Given the description of an element on the screen output the (x, y) to click on. 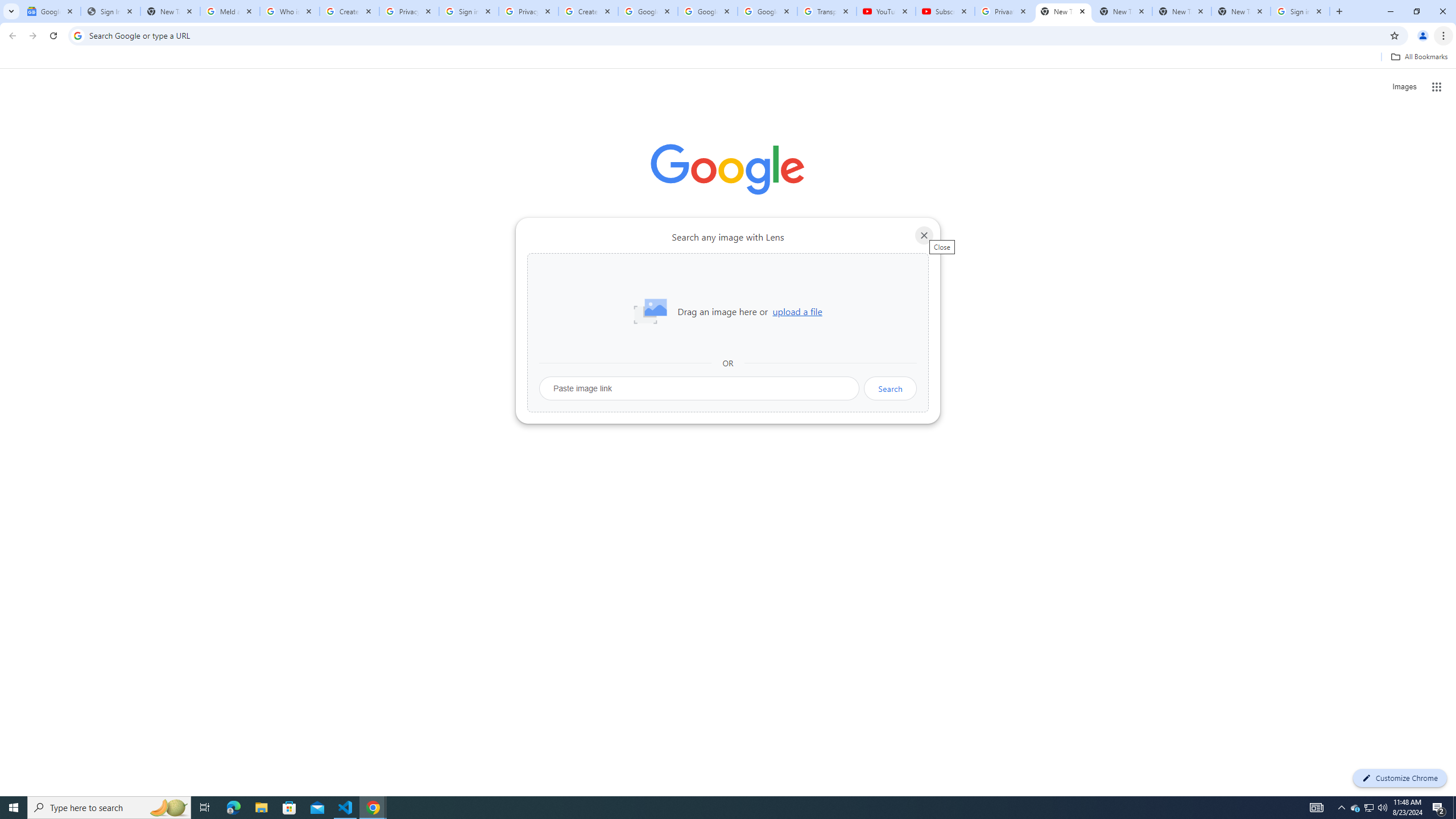
Create your Google Account (349, 11)
Google Account (767, 11)
More actions for Chrome Web Store shortcut (686, 265)
Sign in - Google Accounts (468, 11)
Sign in - Google Accounts (1300, 11)
Who is my administrator? - Google Account Help (289, 11)
